Given the description of an element on the screen output the (x, y) to click on. 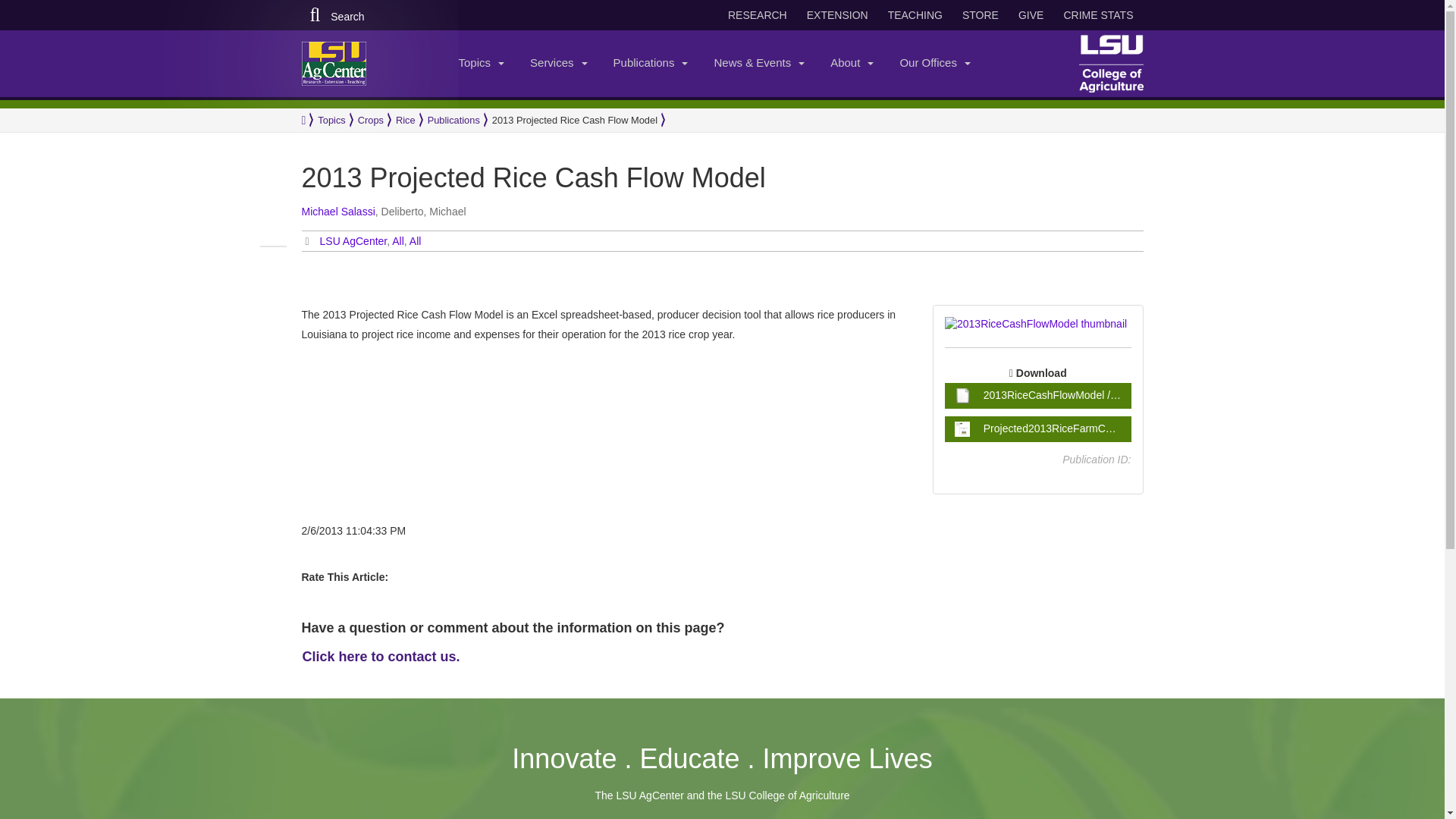
Research (757, 14)
Crime Stats - LSU AgCenter (1097, 14)
Give to LSU AgCenter (1030, 14)
Store (980, 14)
InputRating (405, 568)
Extension (837, 14)
Teaching (915, 14)
